Given the description of an element on the screen output the (x, y) to click on. 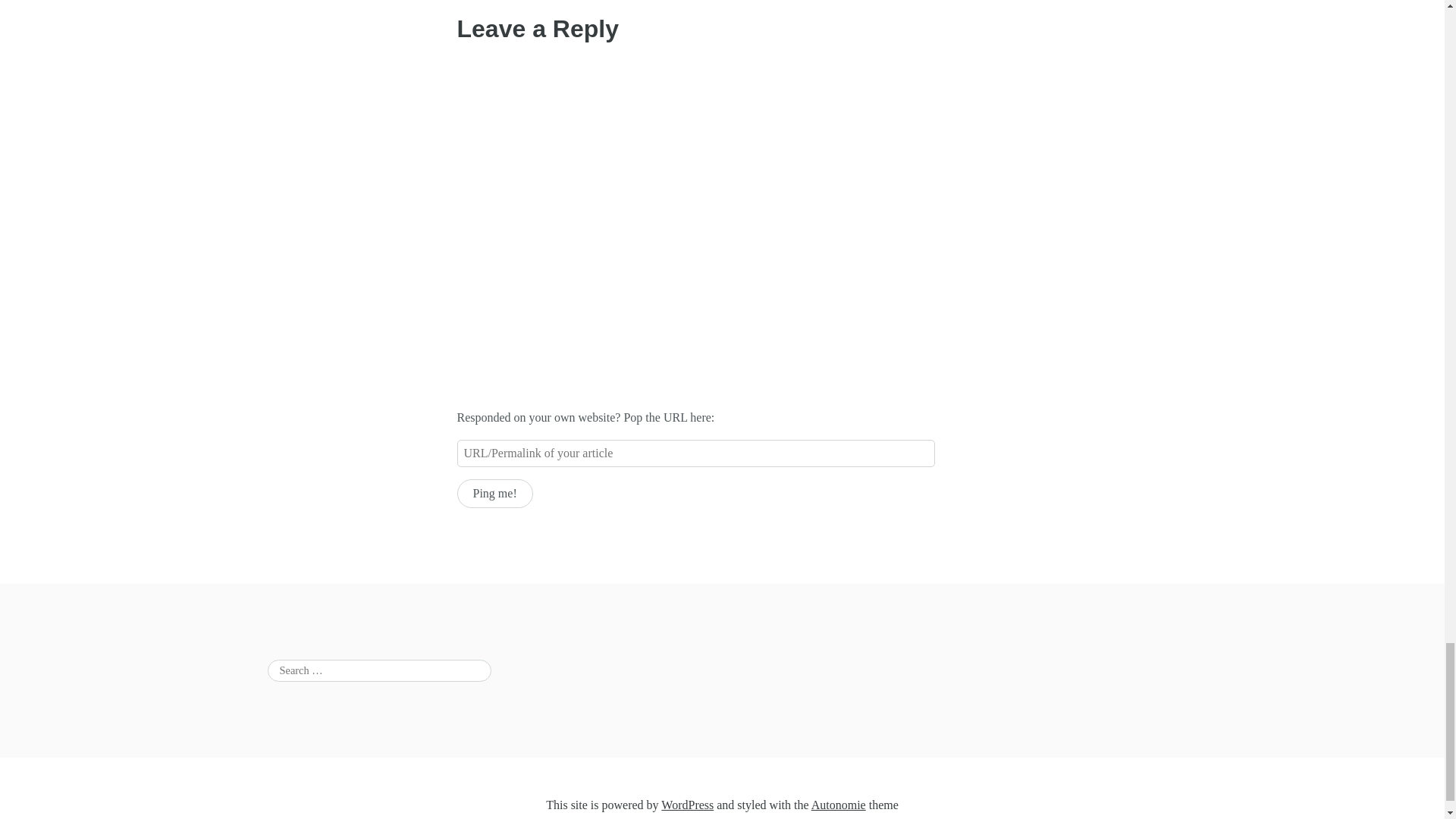
Autonomie (838, 804)
Ping me! (494, 493)
Ping me! (494, 493)
WordPress (687, 804)
